Given the description of an element on the screen output the (x, y) to click on. 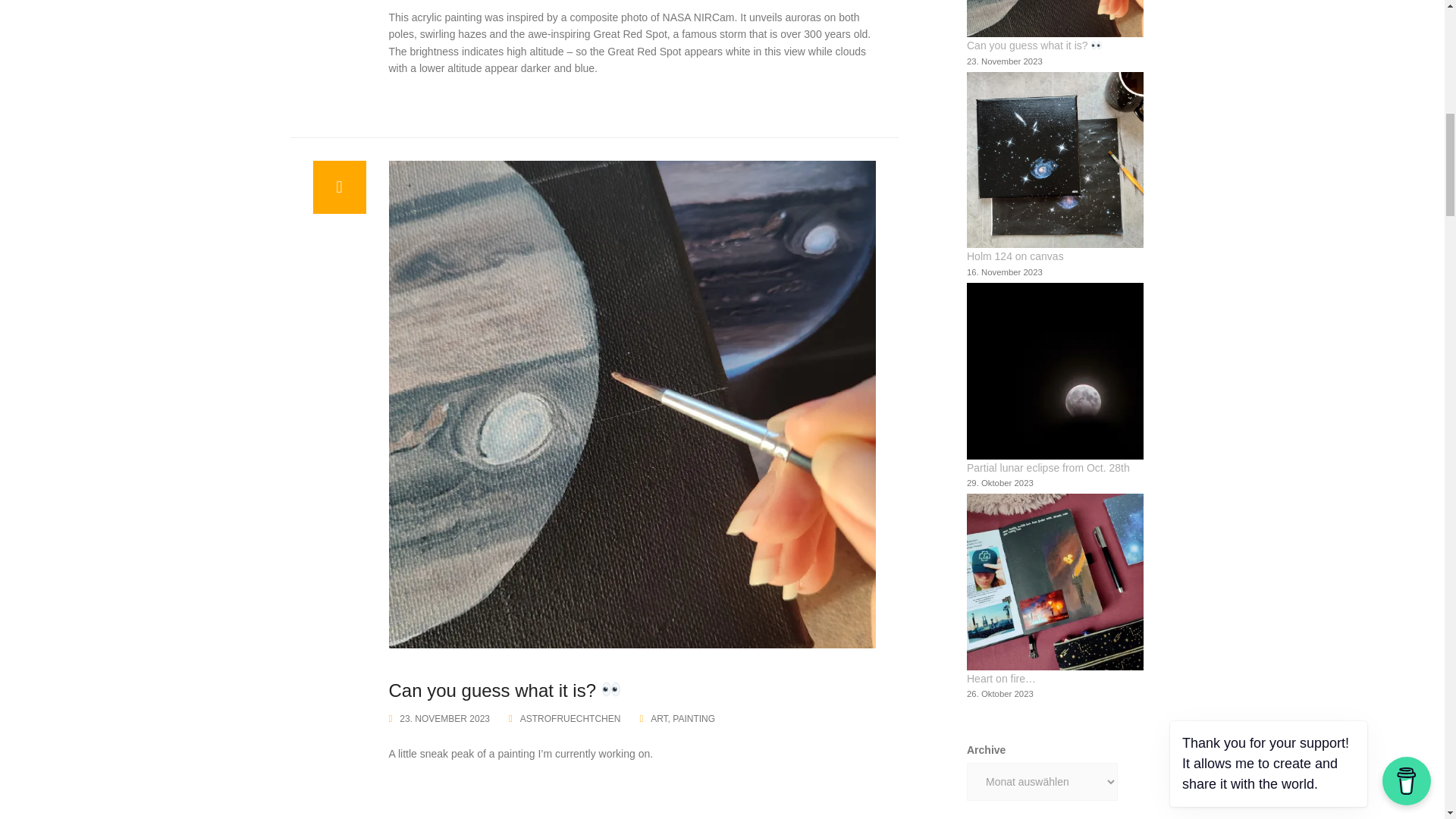
Can you guess what it is? (504, 690)
PAINTING (693, 718)
ASTROFRUECHTCHEN (570, 718)
ART (658, 718)
23. NOVEMBER 2023 (443, 718)
